Given the description of an element on the screen output the (x, y) to click on. 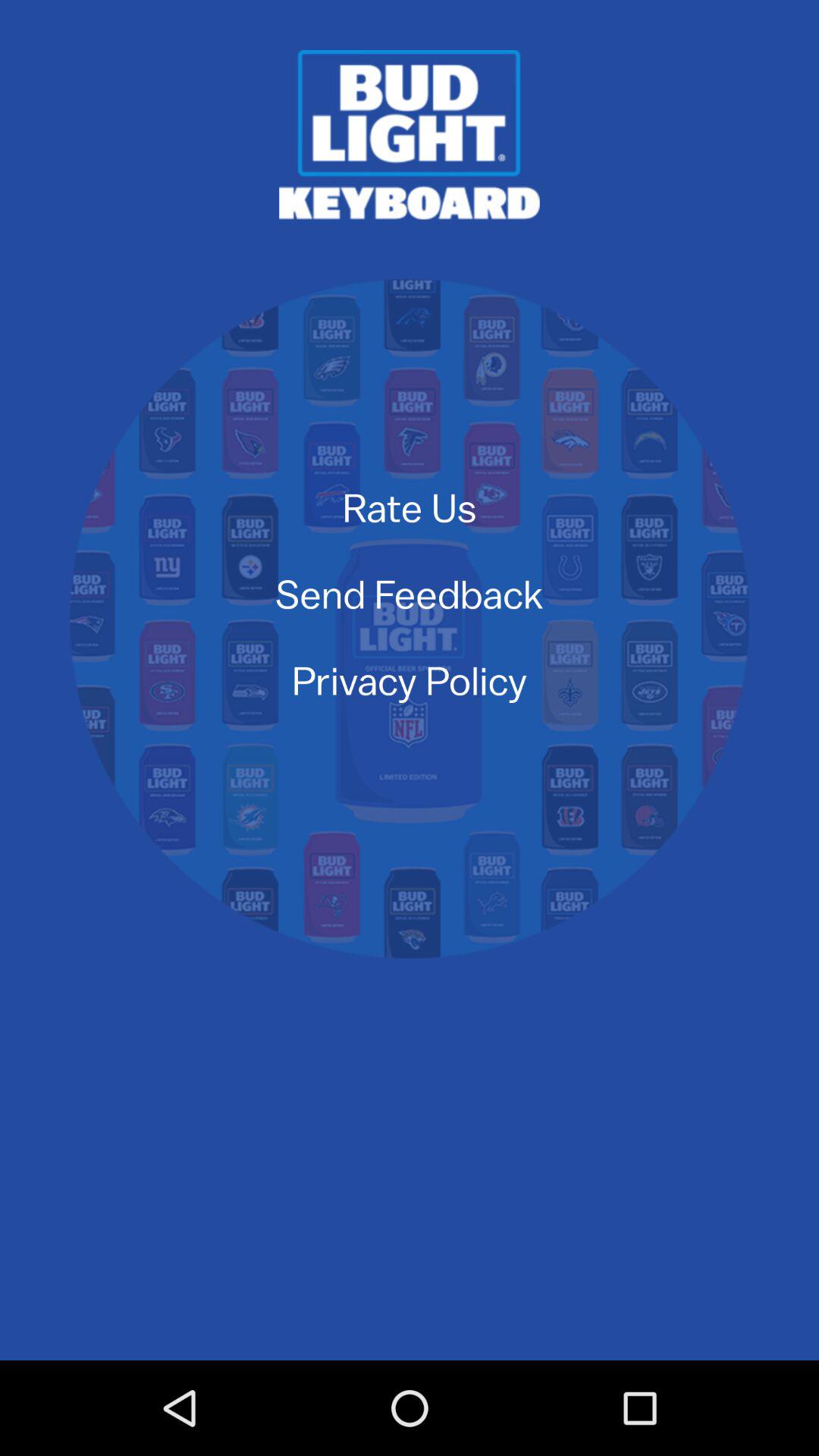
press the send feedback icon (409, 593)
